Given the description of an element on the screen output the (x, y) to click on. 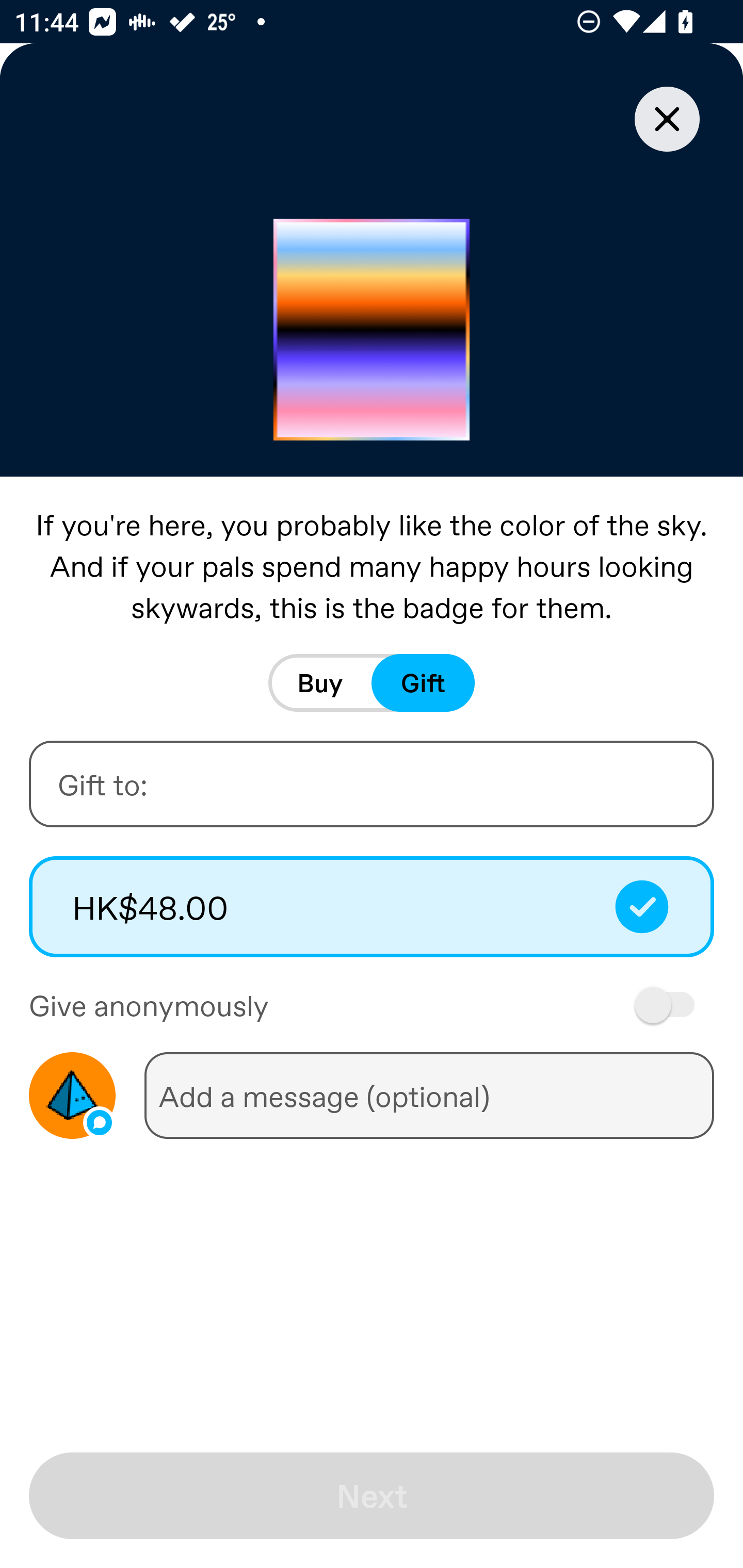
Buy (319, 682)
Gift (423, 682)
Gift to: (371, 783)
Add a message (optional) (429, 1095)
Next (371, 1495)
